Given the description of an element on the screen output the (x, y) to click on. 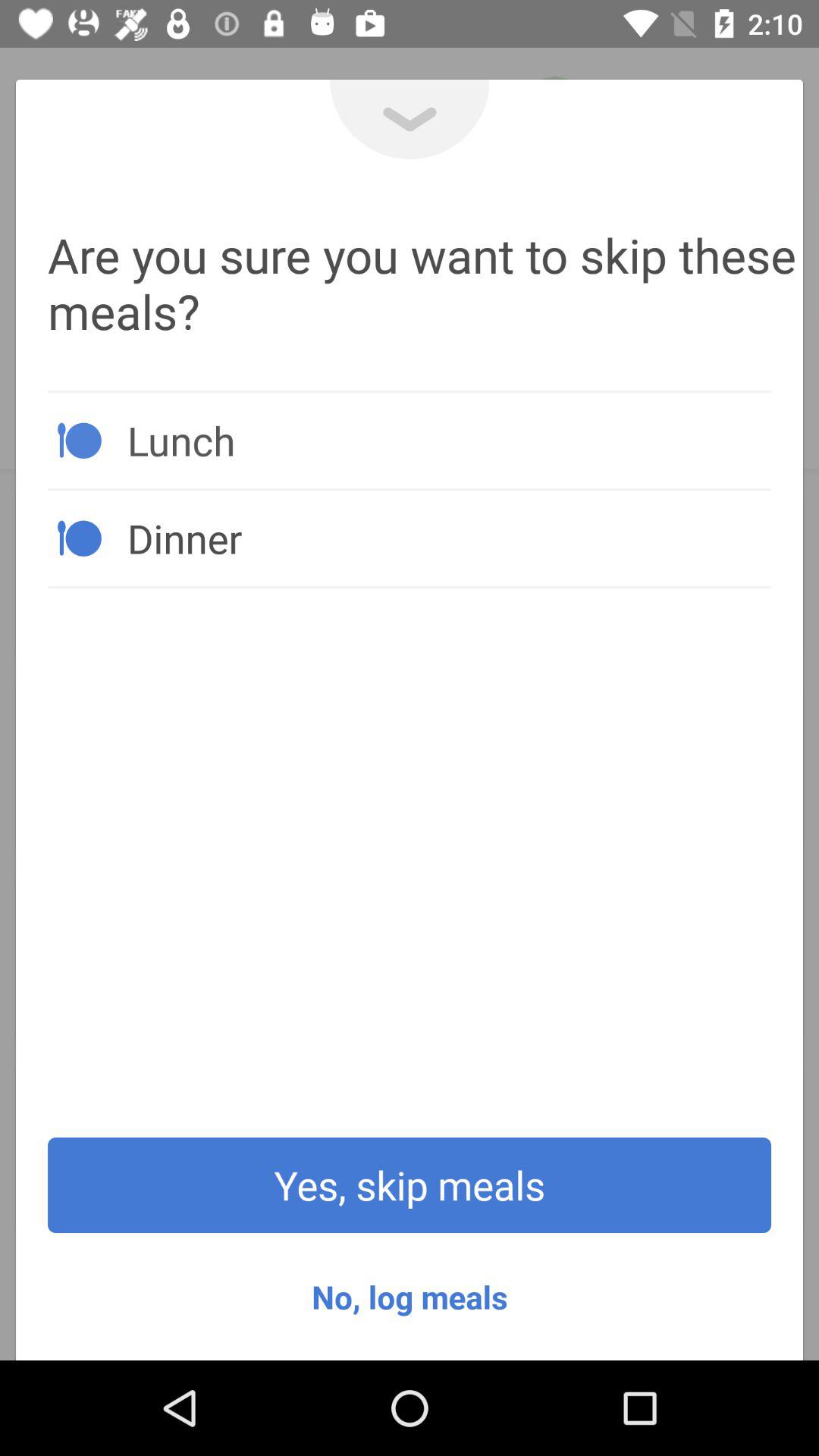
turn on the item above the are you sure item (409, 119)
